Given the description of an element on the screen output the (x, y) to click on. 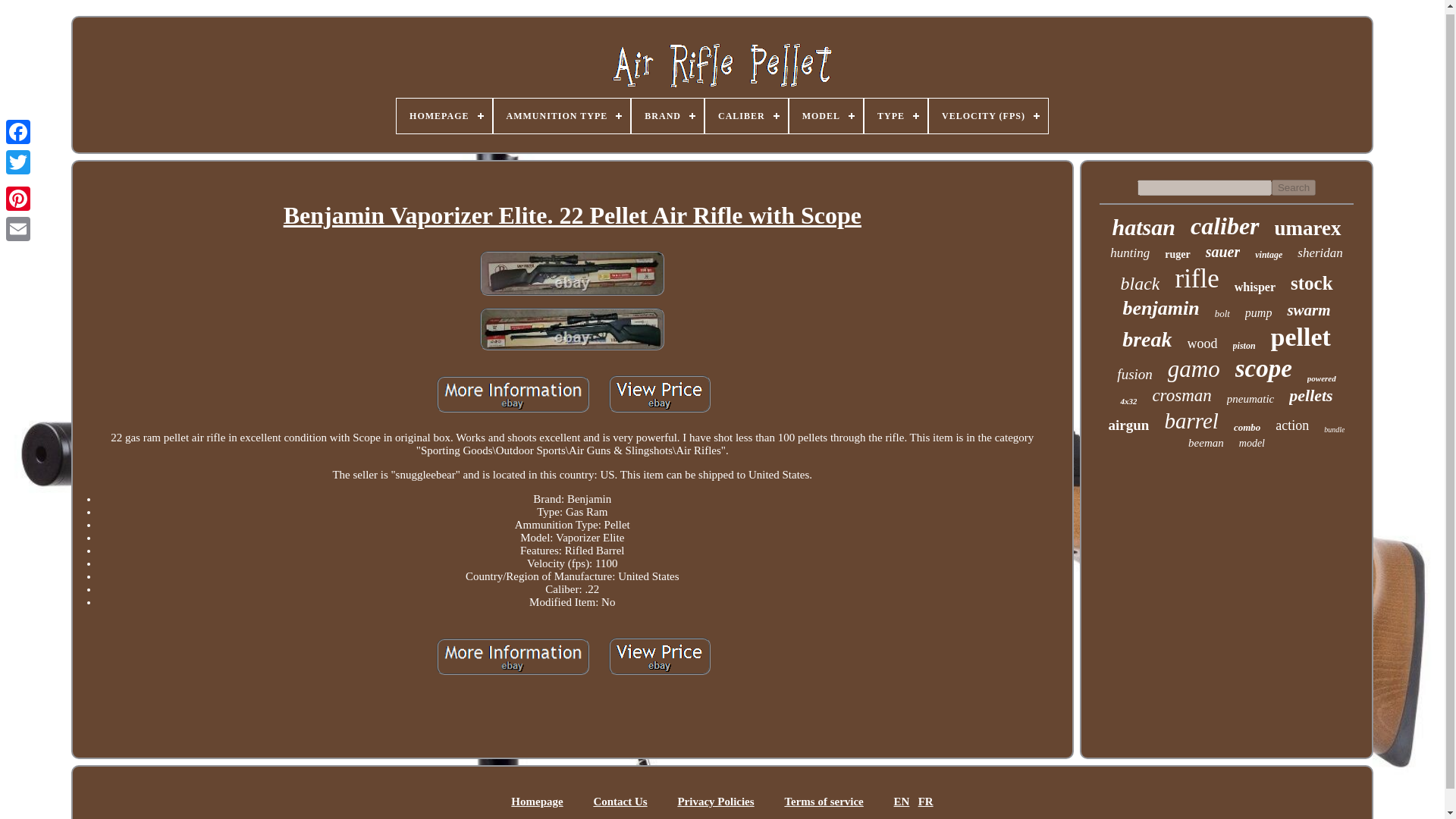
Benjamin Vaporizer Elite. 22 Pellet Air Rifle With Scope (571, 274)
Benjamin Vaporizer Elite. 22 Pellet Air Rifle with Scope (571, 273)
Benjamin Vaporizer Elite. 22 Pellet Air Rifle With Scope (572, 215)
Benjamin Vaporizer Elite. 22 Pellet Air Rifle With Scope (512, 657)
Benjamin Vaporizer Elite. 22 Pellet Air Rifle with Scope (571, 328)
Benjamin Vaporizer Elite. 22 Pellet Air Rifle With Scope (571, 330)
Benjamin Vaporizer Elite. 22 Pellet Air Rifle With Scope (512, 395)
HOMEPAGE (444, 115)
Benjamin Vaporizer Elite. 22 Pellet Air Rifle with Scope (659, 656)
Search (1293, 187)
Benjamin Vaporizer Elite. 22 Pellet Air Rifle with Scope (512, 656)
Benjamin Vaporizer Elite. 22 Pellet Air Rifle With Scope (659, 657)
AMMUNITION TYPE (561, 115)
Benjamin Vaporizer Elite. 22 Pellet Air Rifle with Scope (659, 393)
Benjamin Vaporizer Elite. 22 Pellet Air Rifle With Scope (659, 395)
